Given the description of an element on the screen output the (x, y) to click on. 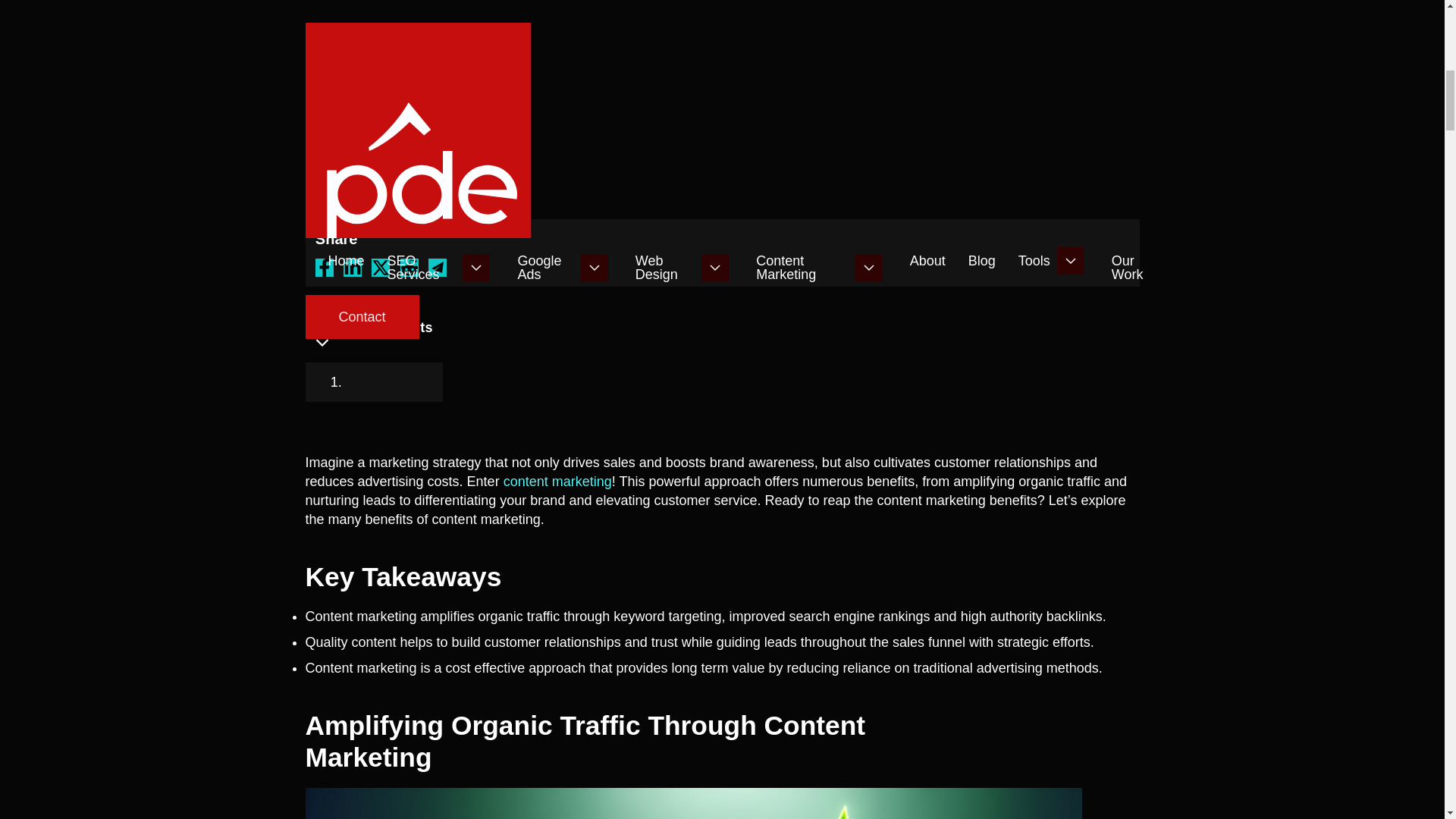
Share article to Facebook (324, 267)
Share article to X (409, 267)
Share article to X (380, 267)
Share article via email (437, 267)
